Given the description of an element on the screen output the (x, y) to click on. 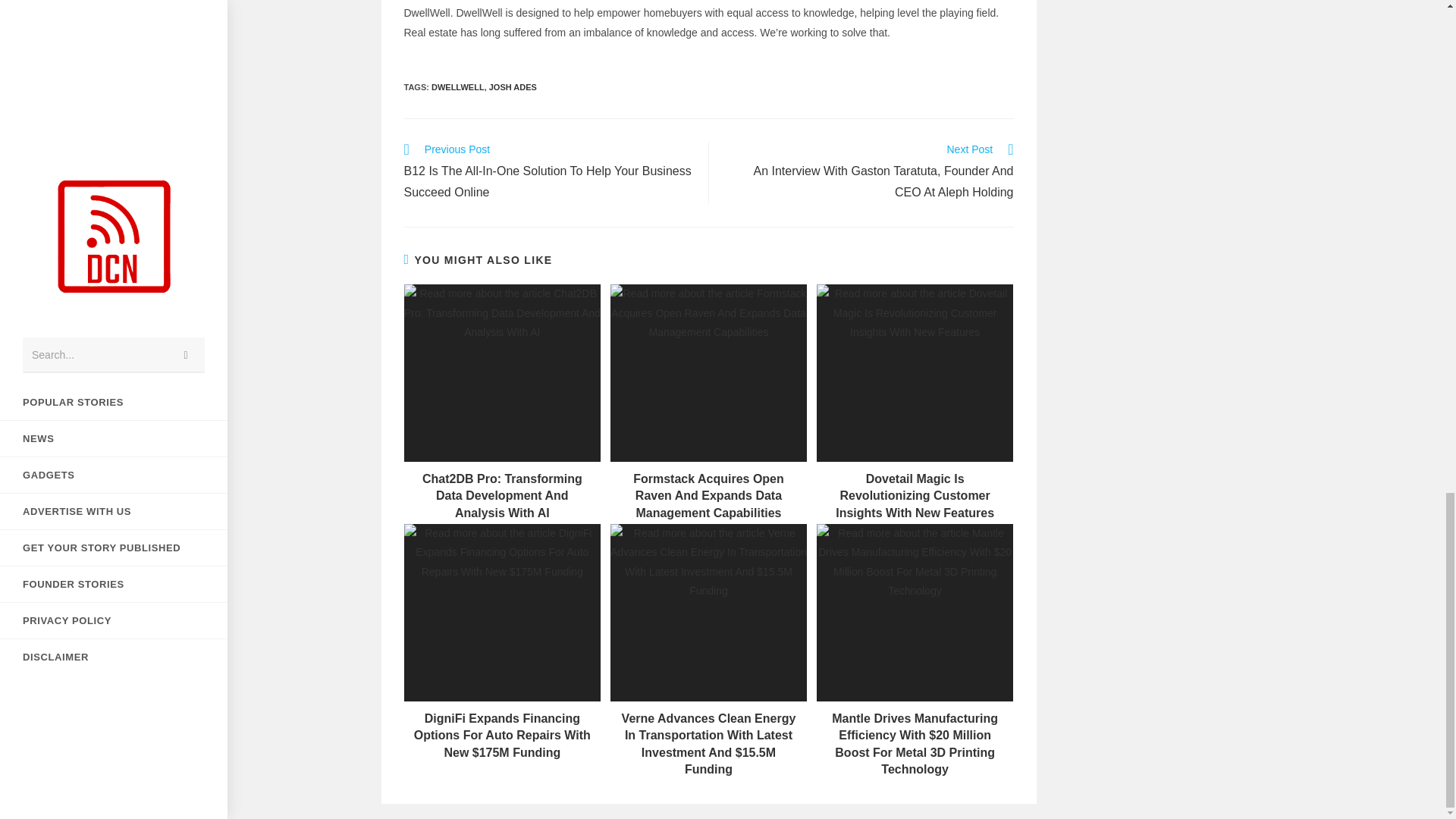
DWELLWELL (457, 86)
JOSH ADES (513, 86)
